Given the description of an element on the screen output the (x, y) to click on. 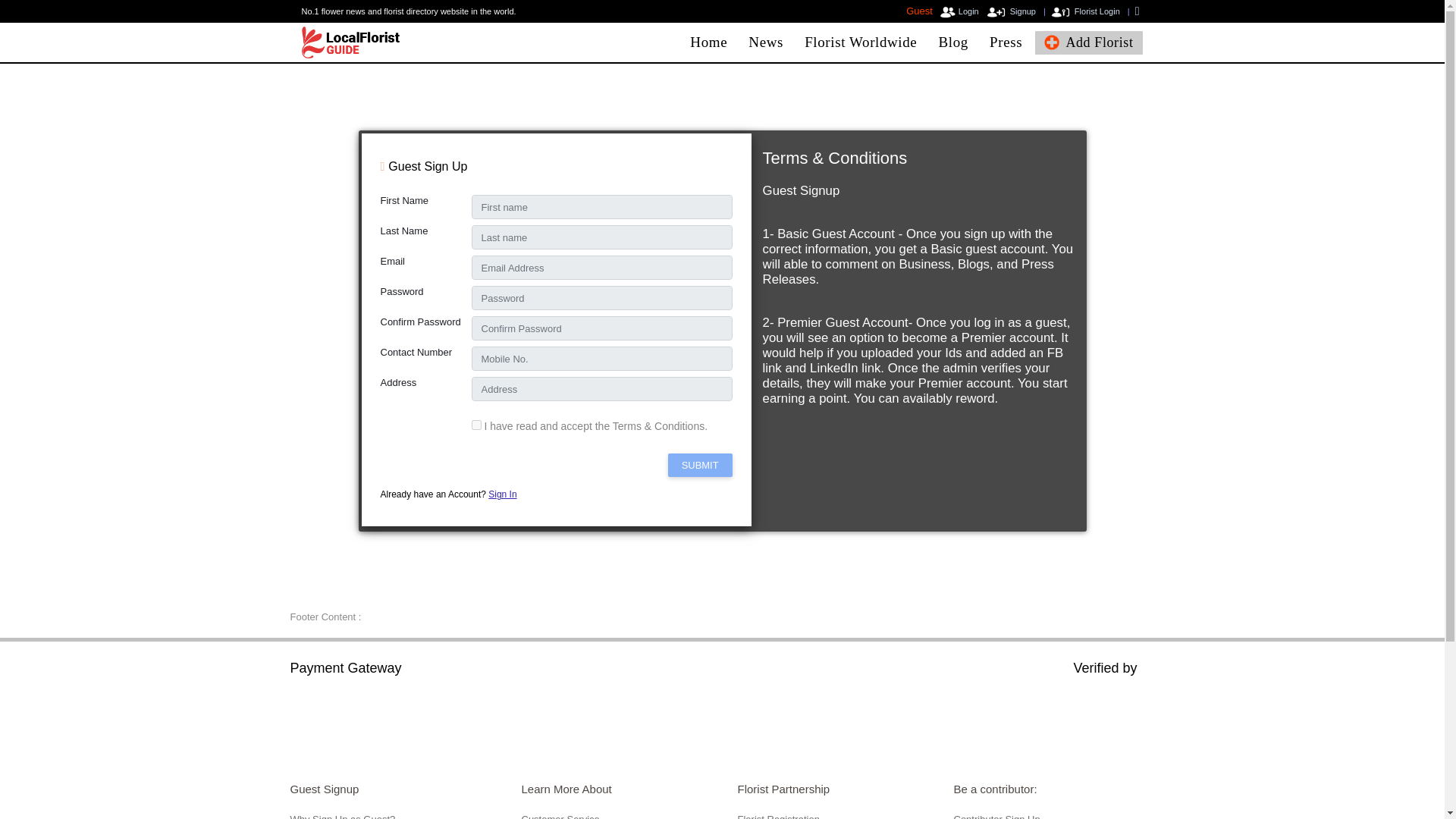
Blog (953, 41)
Signup (1011, 10)
Add Florist (1087, 42)
Press (1004, 41)
Why Sign Up as Guest? (341, 816)
Submit (700, 464)
Submit (700, 464)
Login (959, 10)
Sign In (501, 493)
1 (476, 424)
